Given the description of an element on the screen output the (x, y) to click on. 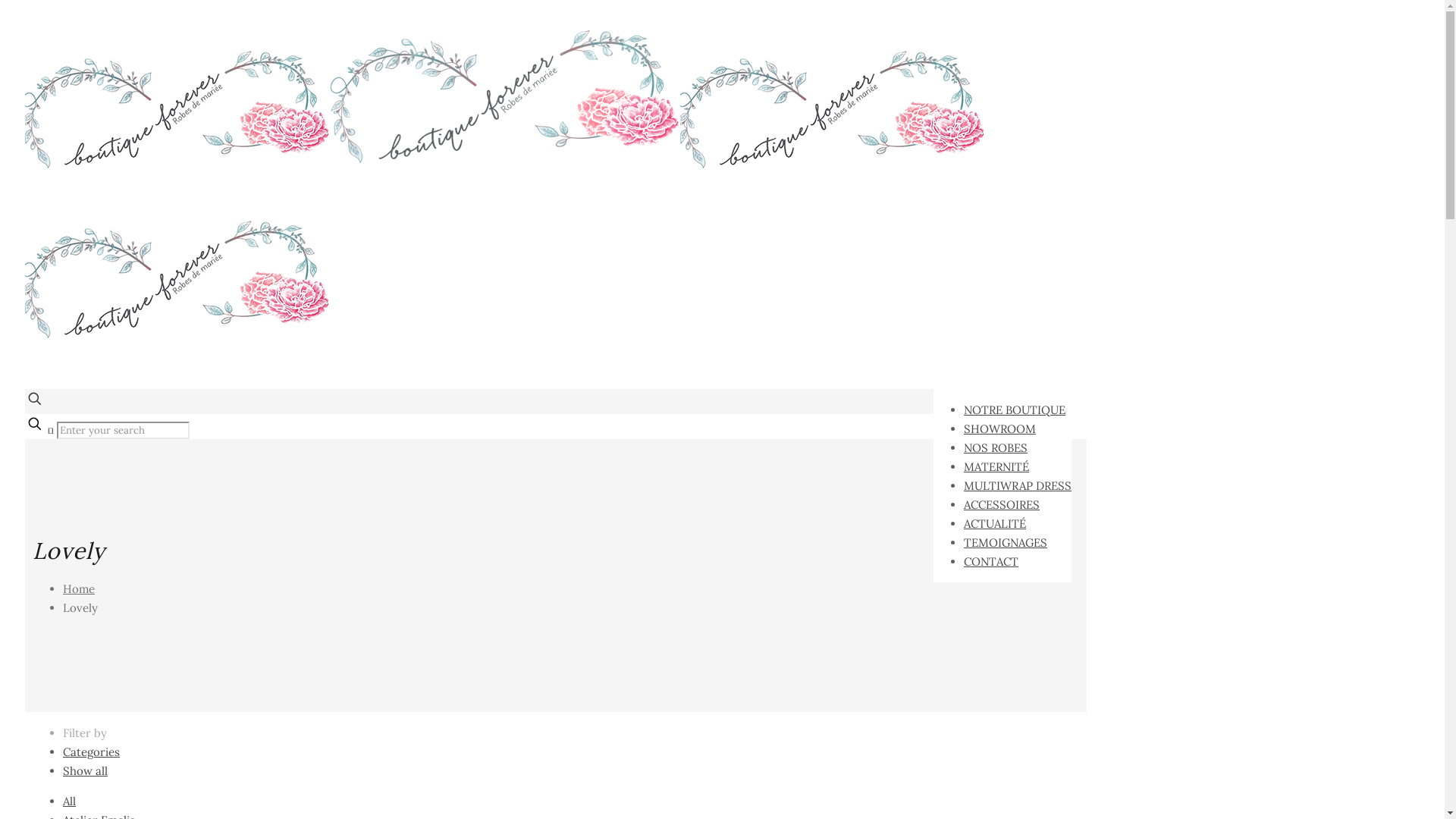
ACCESSOIRES Element type: text (1001, 504)
Boutique For Ever Element type: hover (504, 250)
NOS ROBES Element type: text (995, 447)
Categories Element type: text (90, 751)
CONTACT Element type: text (990, 561)
Home Element type: text (78, 588)
MULTIWRAP DRESS Element type: text (1017, 485)
All Element type: text (68, 800)
SHOWROOM Element type: text (999, 428)
TEMOIGNAGES Element type: text (1005, 542)
NOTRE BOUTIQUE Element type: text (1014, 409)
Show all Element type: text (84, 770)
